Given the description of an element on the screen output the (x, y) to click on. 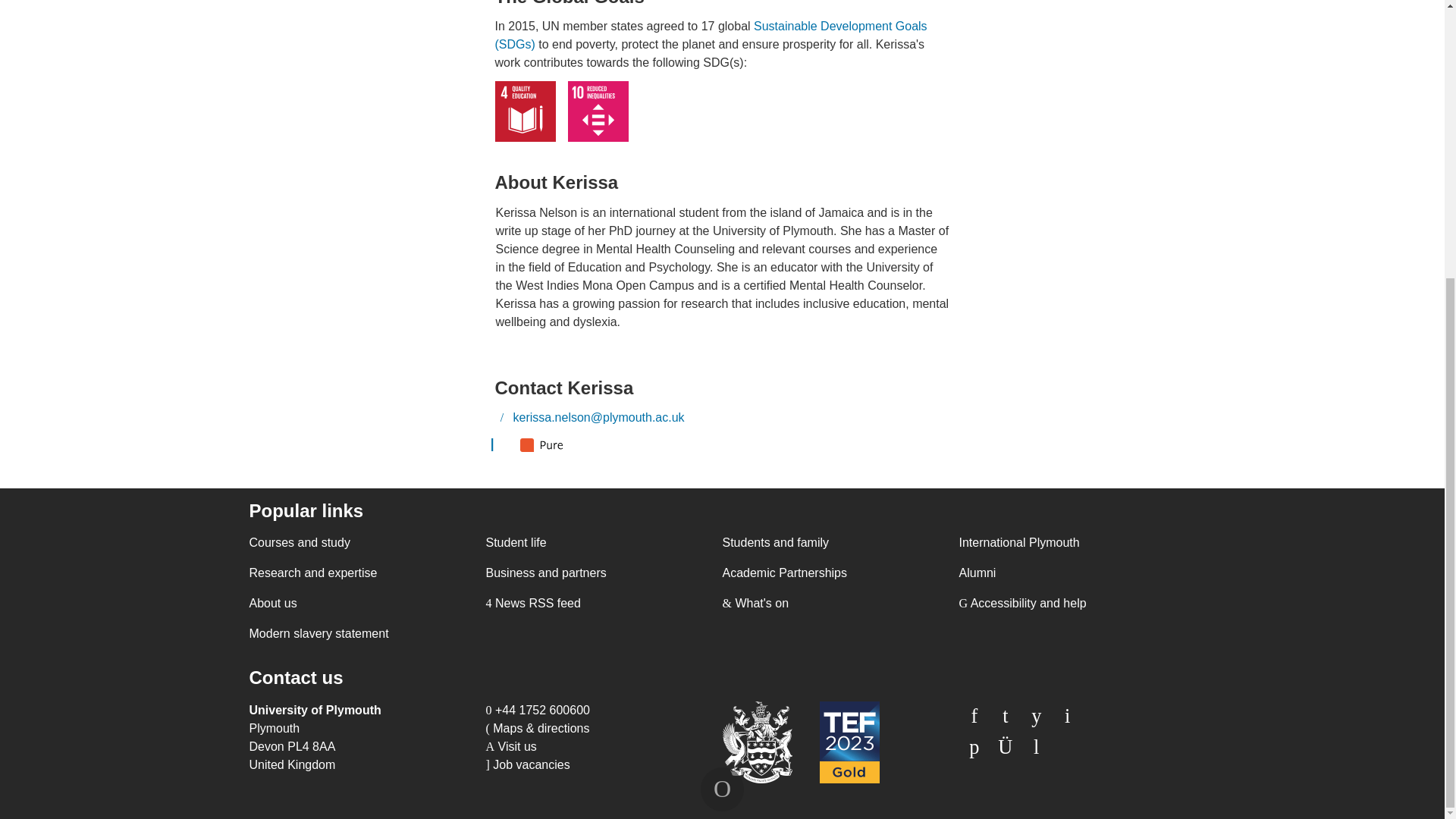
Goal 10: SDG 10 - Reduced Inequalities (597, 111)
Goal 04: SDG 4 - Quality Education (524, 111)
